Given the description of an element on the screen output the (x, y) to click on. 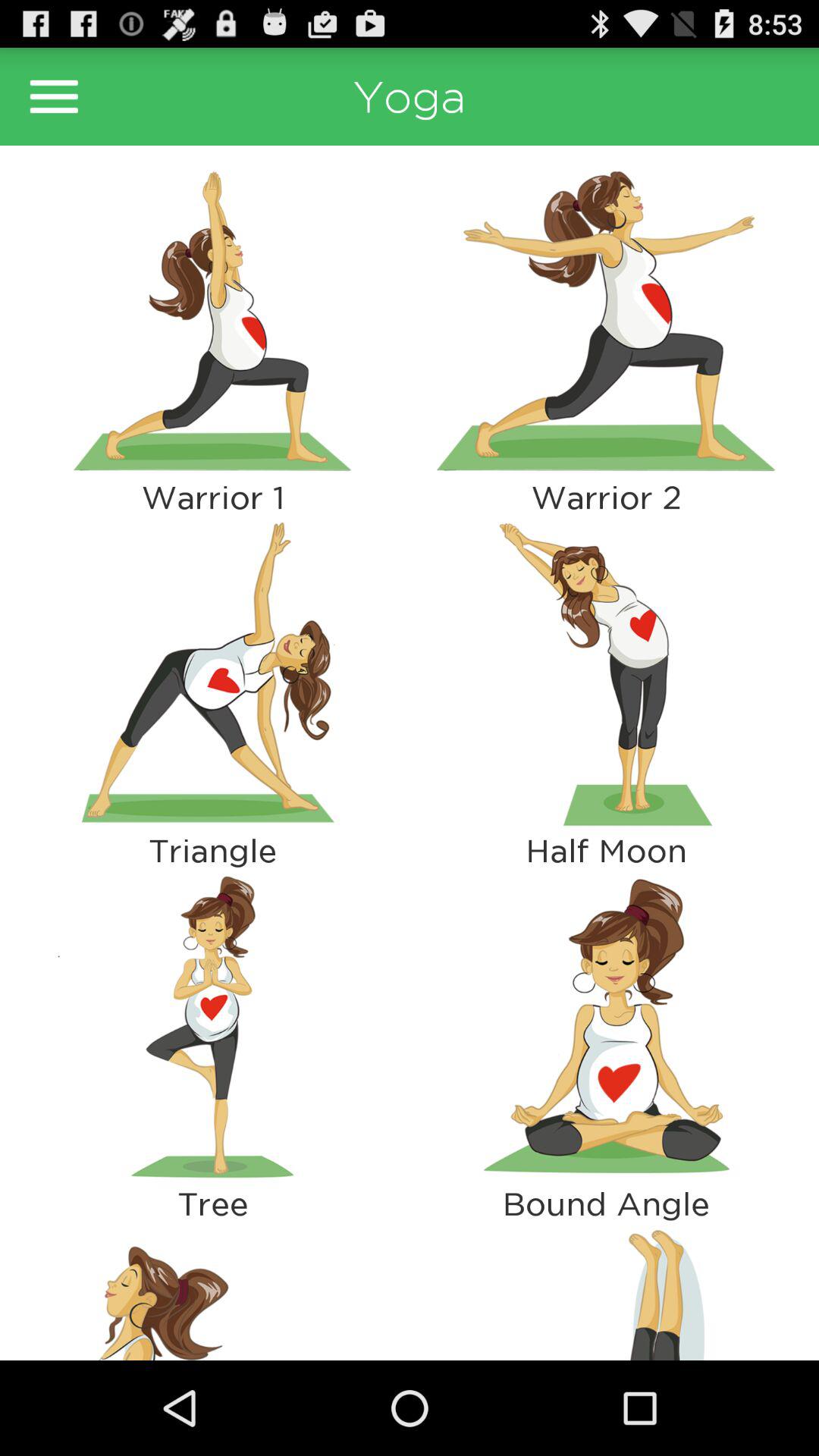
turn on the app next to tree (606, 1290)
